Given the description of an element on the screen output the (x, y) to click on. 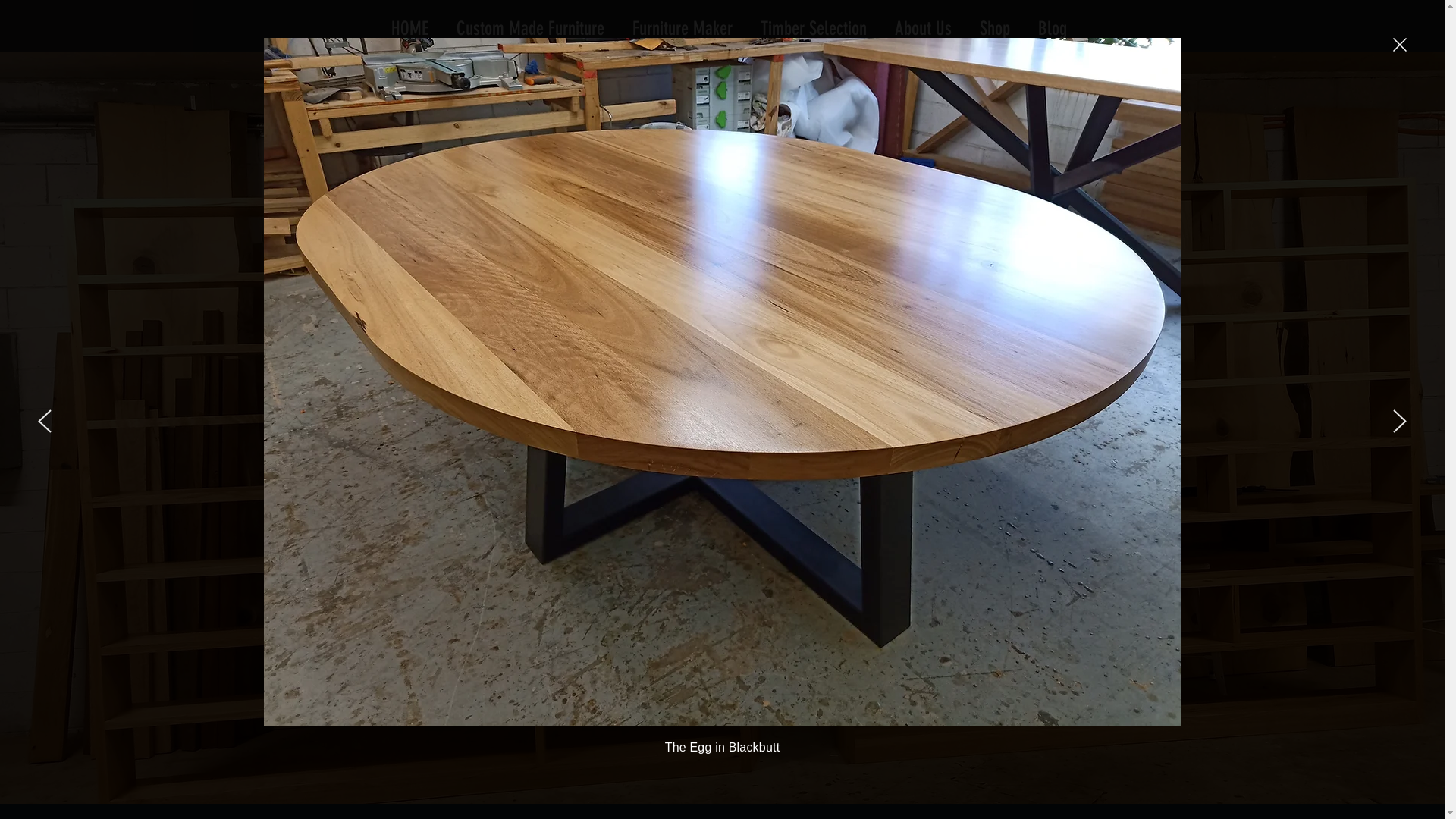
HOME Element type: text (409, 24)
Furniture Maker Element type: text (682, 24)
About Us Element type: text (923, 24)
Custom Made Furniture Element type: text (530, 24)
Blog Element type: text (1051, 24)
Shop Element type: text (995, 24)
Timber Selection Element type: text (813, 24)
